Given the description of an element on the screen output the (x, y) to click on. 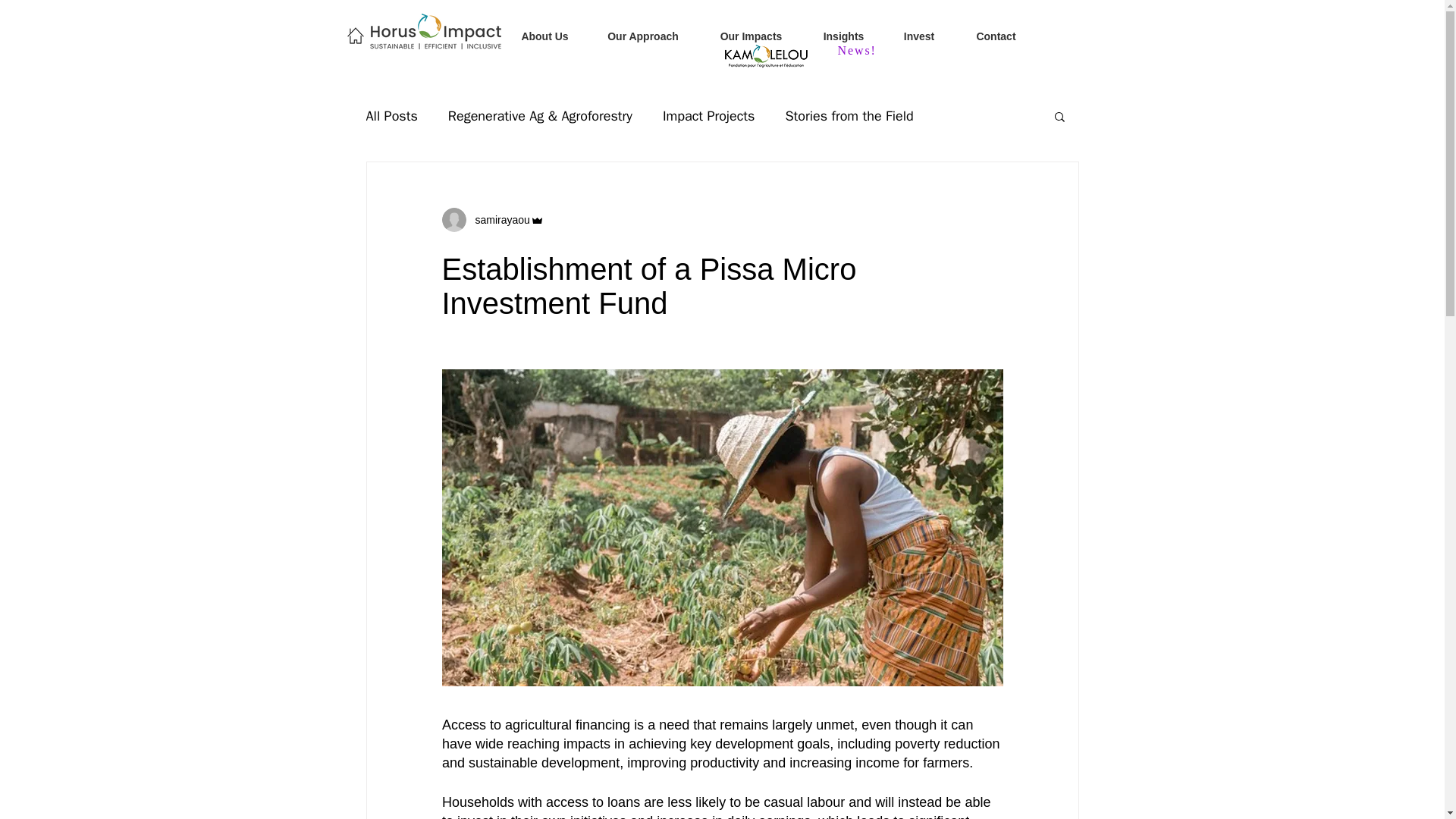
Stories from the Field (848, 116)
samirayaou (497, 220)
All Posts (390, 116)
Contact (994, 36)
About Us (544, 36)
Insights (843, 36)
Our Impacts (750, 36)
Invest (919, 36)
samirayaou (492, 219)
Our Approach (642, 36)
Impact Projects (708, 116)
Logo.png (765, 55)
